Given the description of an element on the screen output the (x, y) to click on. 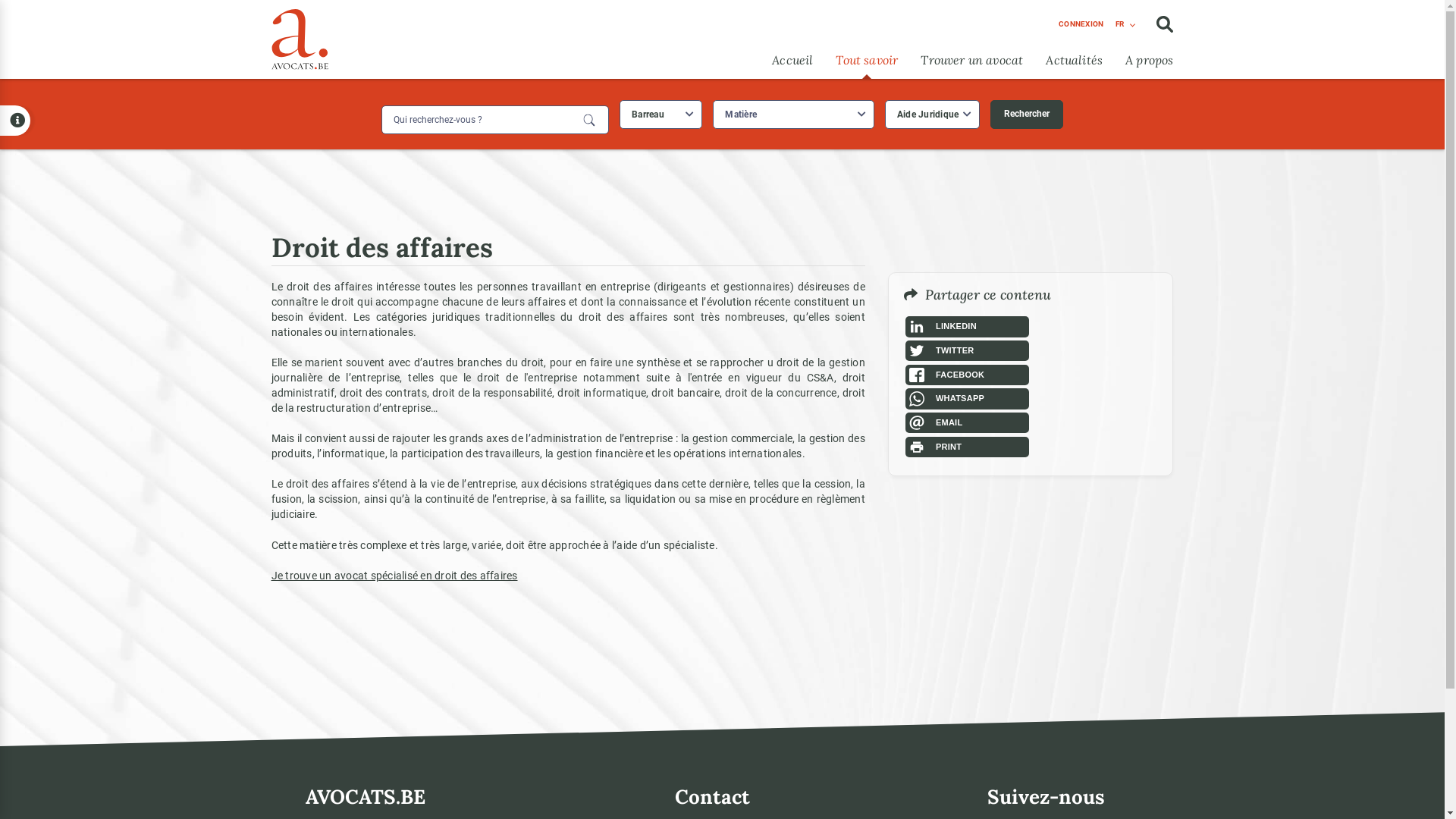
LINKEDIN Element type: text (967, 326)
Tout savoir Element type: text (866, 59)
Go to homepage Element type: hover (299, 35)
TWITTER Element type: text (967, 350)
Rechercher Element type: text (1026, 114)
Accueil Element type: text (791, 59)
PRINT Element type: text (967, 447)
CONNEXION Element type: text (1080, 23)
FACEBOOK Element type: text (967, 374)
Trouver un avocat Element type: text (971, 59)
A propos Element type: text (1149, 59)
EMAIL Element type: text (967, 422)
FR Element type: text (1125, 23)
WHATSAPP Element type: text (967, 398)
